Given the description of an element on the screen output the (x, y) to click on. 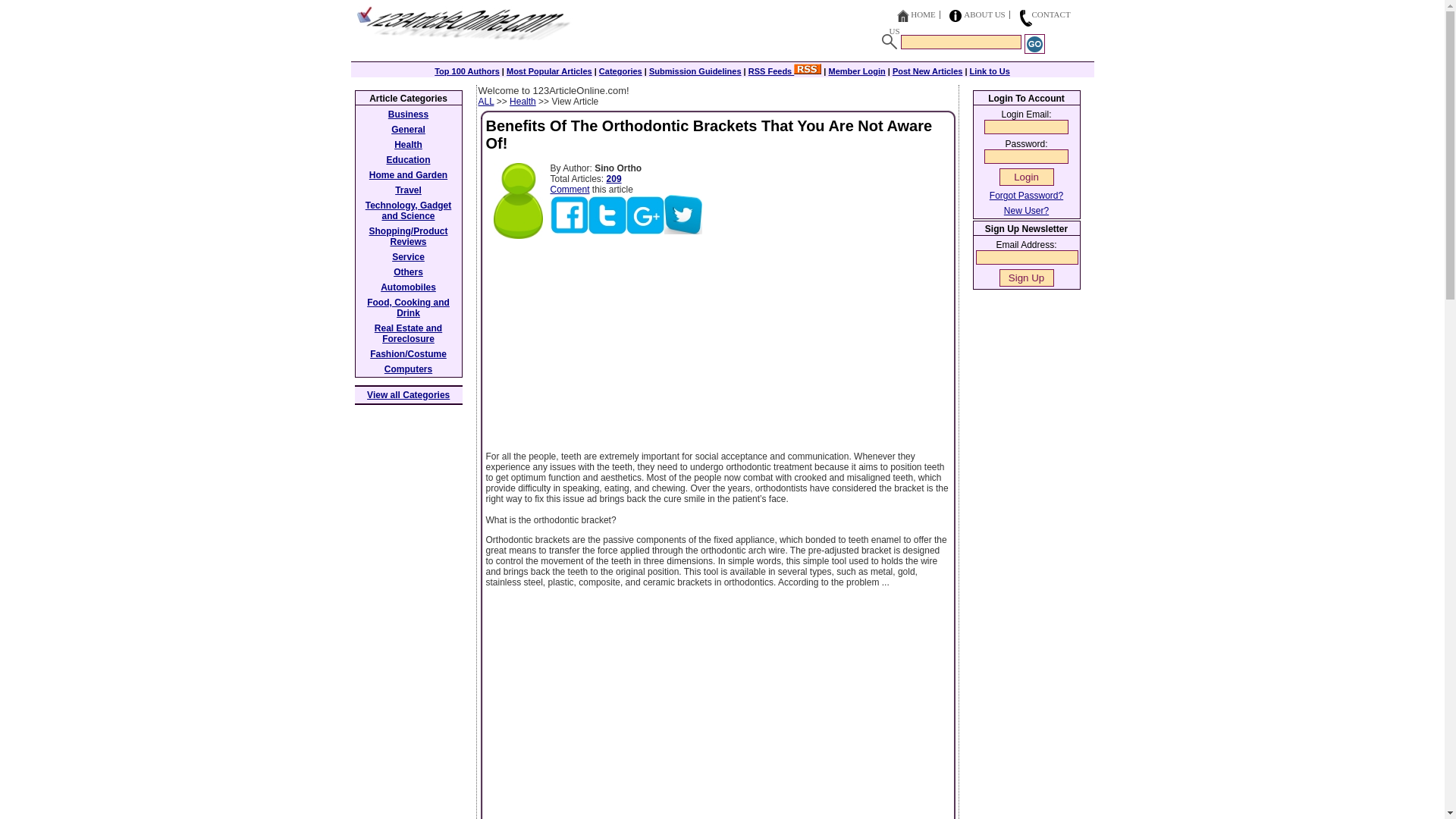
Health (522, 101)
Categories (620, 71)
ALL (485, 101)
Top 100 Authors (466, 71)
Most Popular Articles (549, 71)
Comment (569, 189)
209 (614, 178)
Submission Guidelines (695, 71)
